Given the description of an element on the screen output the (x, y) to click on. 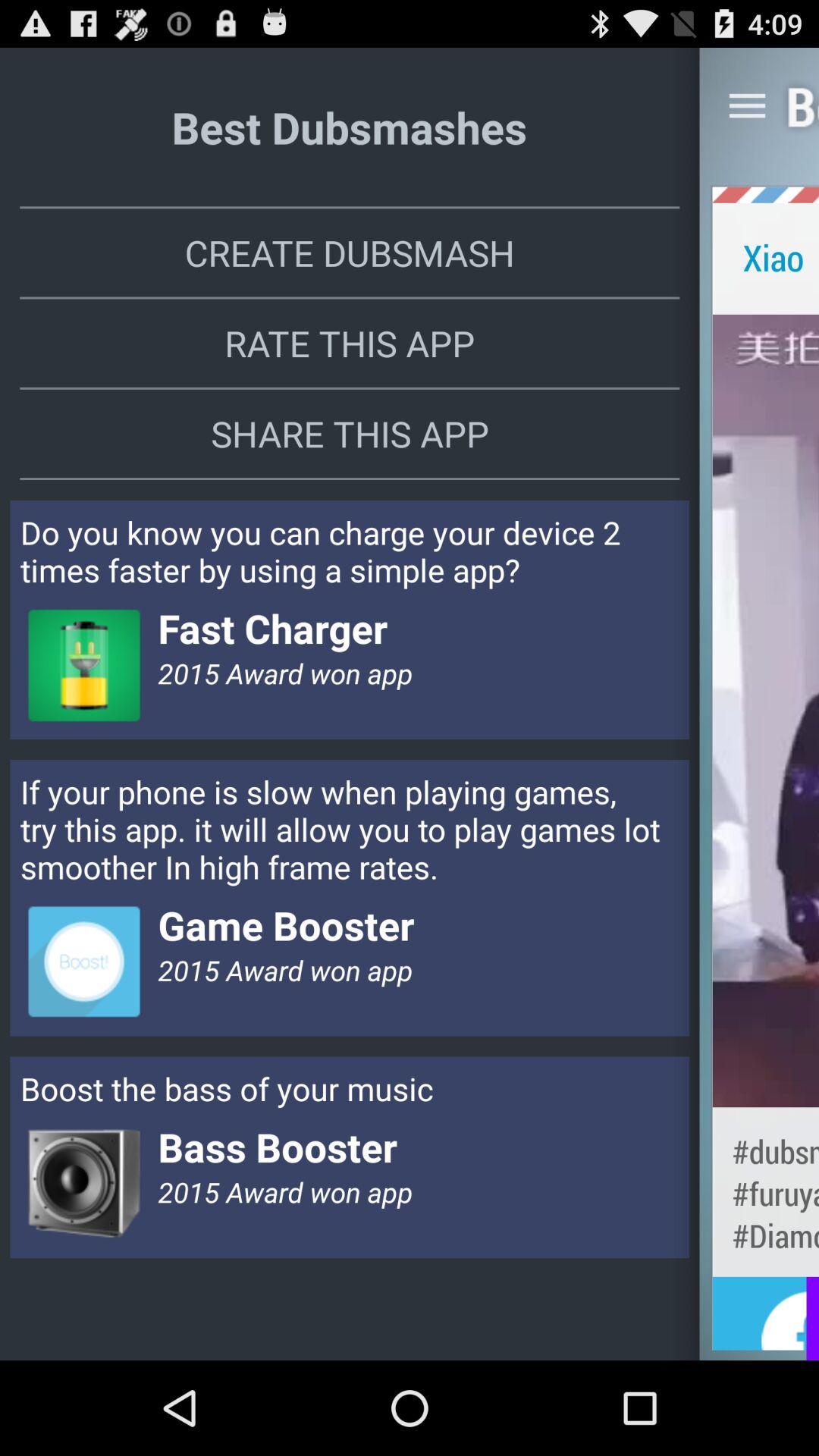
press the item above the dubsmash spongebob spongebobsquarepants (765, 710)
